Given the description of an element on the screen output the (x, y) to click on. 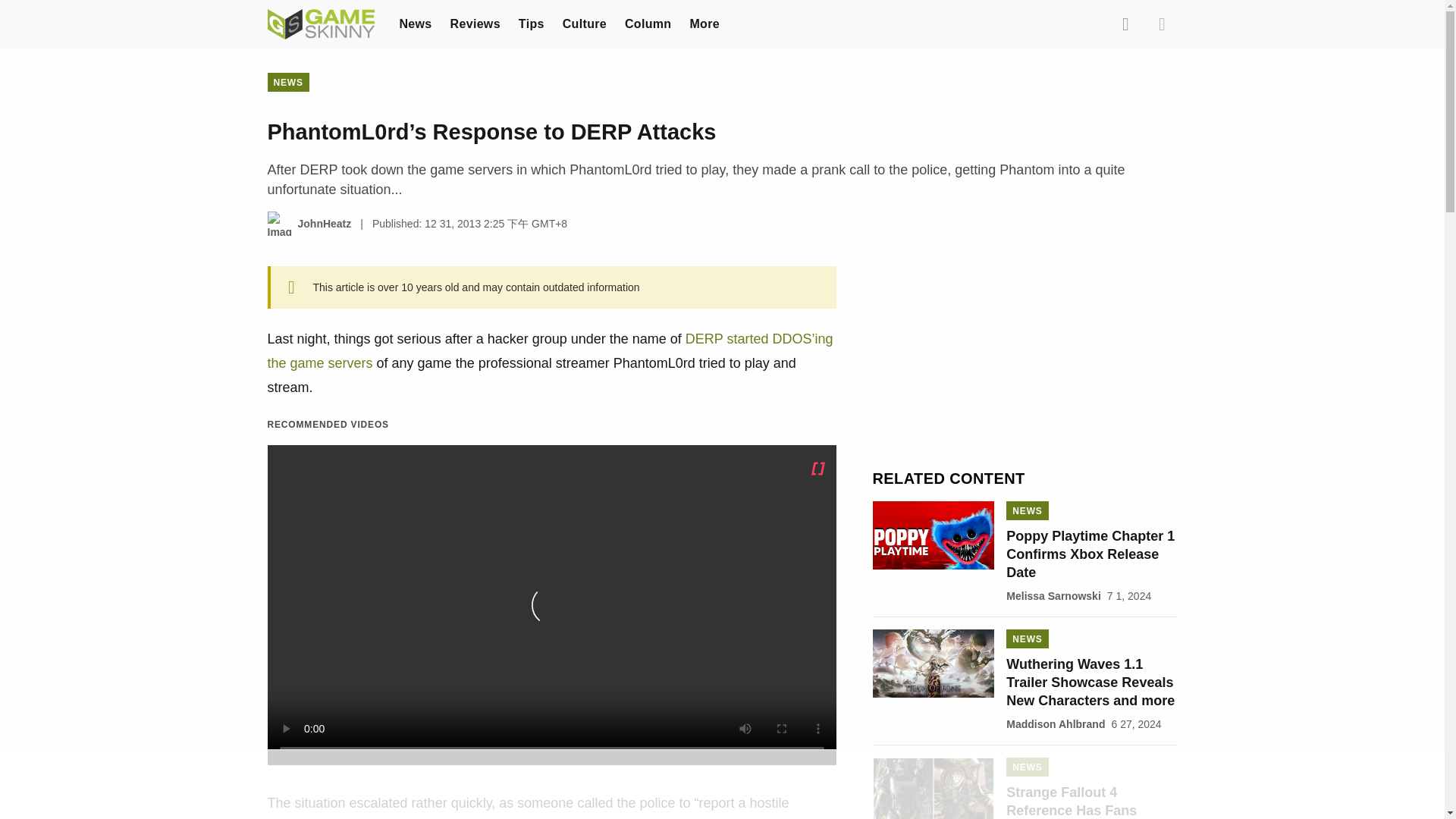
Reviews (474, 23)
News (414, 23)
Search (1124, 24)
Culture (584, 23)
3rd party ad content (721, 785)
3rd party ad content (1024, 360)
Column (647, 23)
NEWS (287, 81)
Dark Mode (1161, 24)
Tips (531, 23)
